Given the description of an element on the screen output the (x, y) to click on. 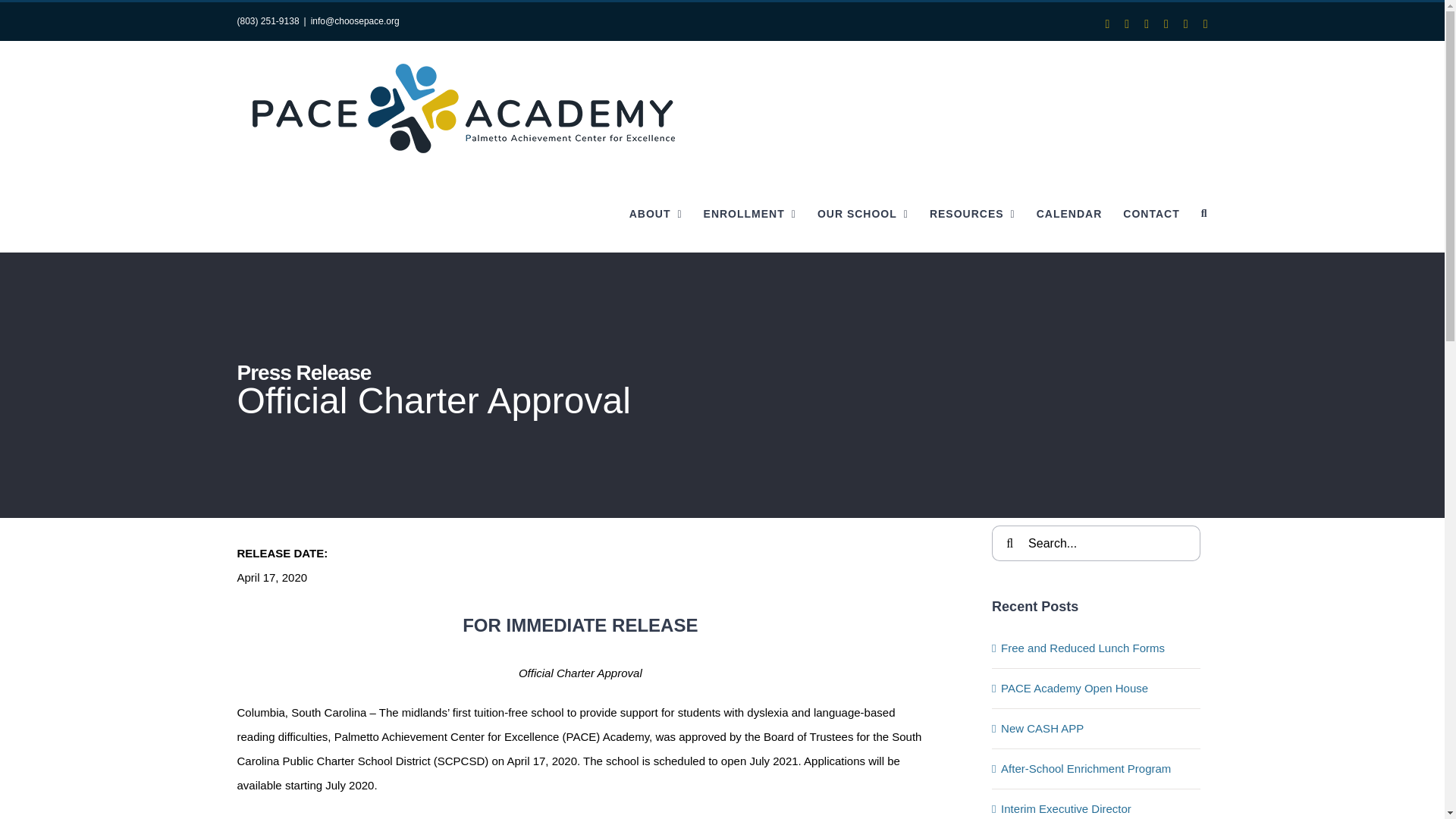
RESOURCES (972, 213)
ENROLLMENT (749, 213)
OUR SCHOOL (862, 213)
